Given the description of an element on the screen output the (x, y) to click on. 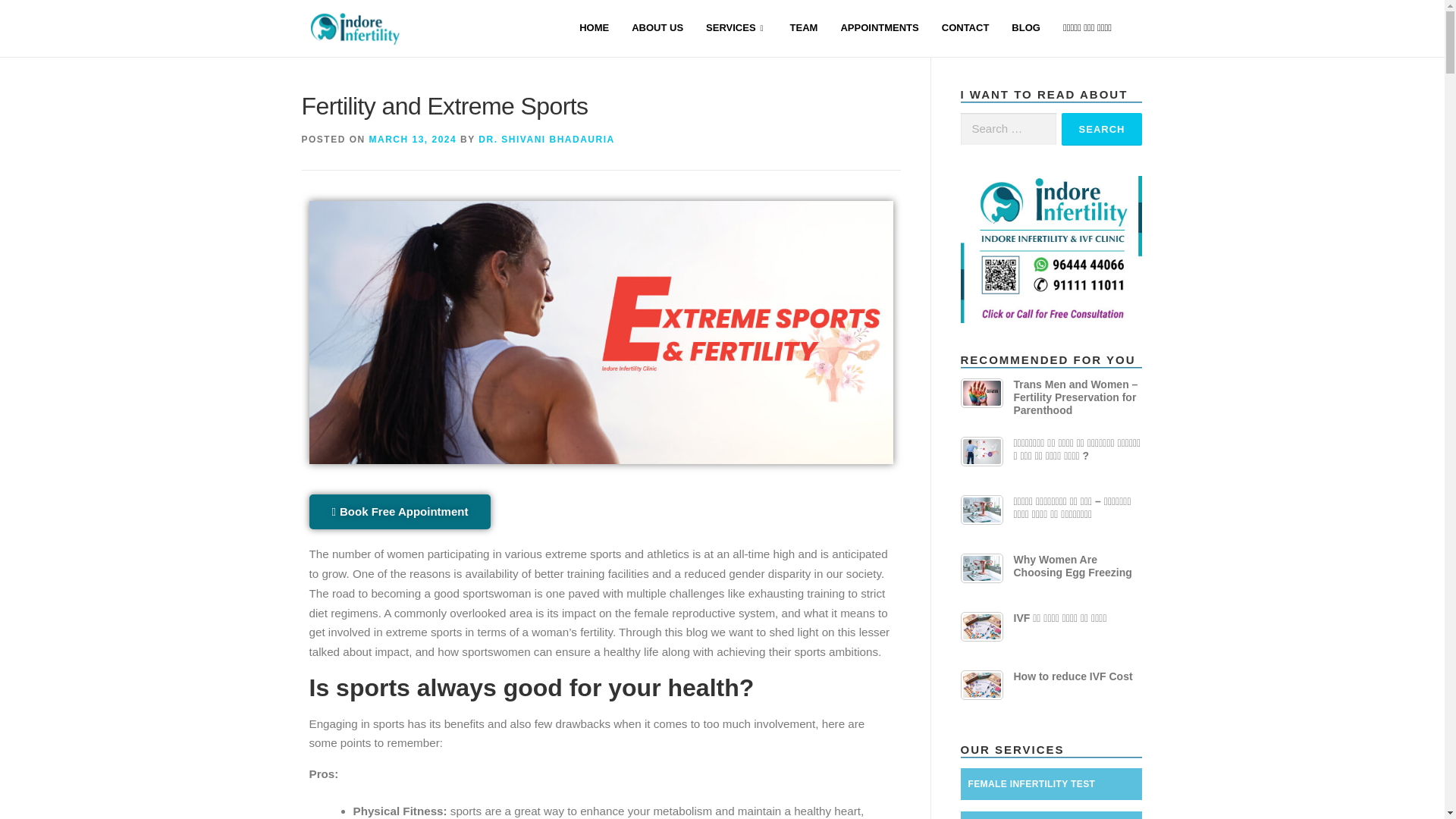
SERVICES (736, 28)
CONTACT (965, 28)
TEAM (803, 28)
Search (1101, 129)
Search (1101, 129)
BLOG (1025, 28)
APPOINTMENTS (879, 28)
ABOUT US (657, 28)
HOME (593, 28)
